Given the description of an element on the screen output the (x, y) to click on. 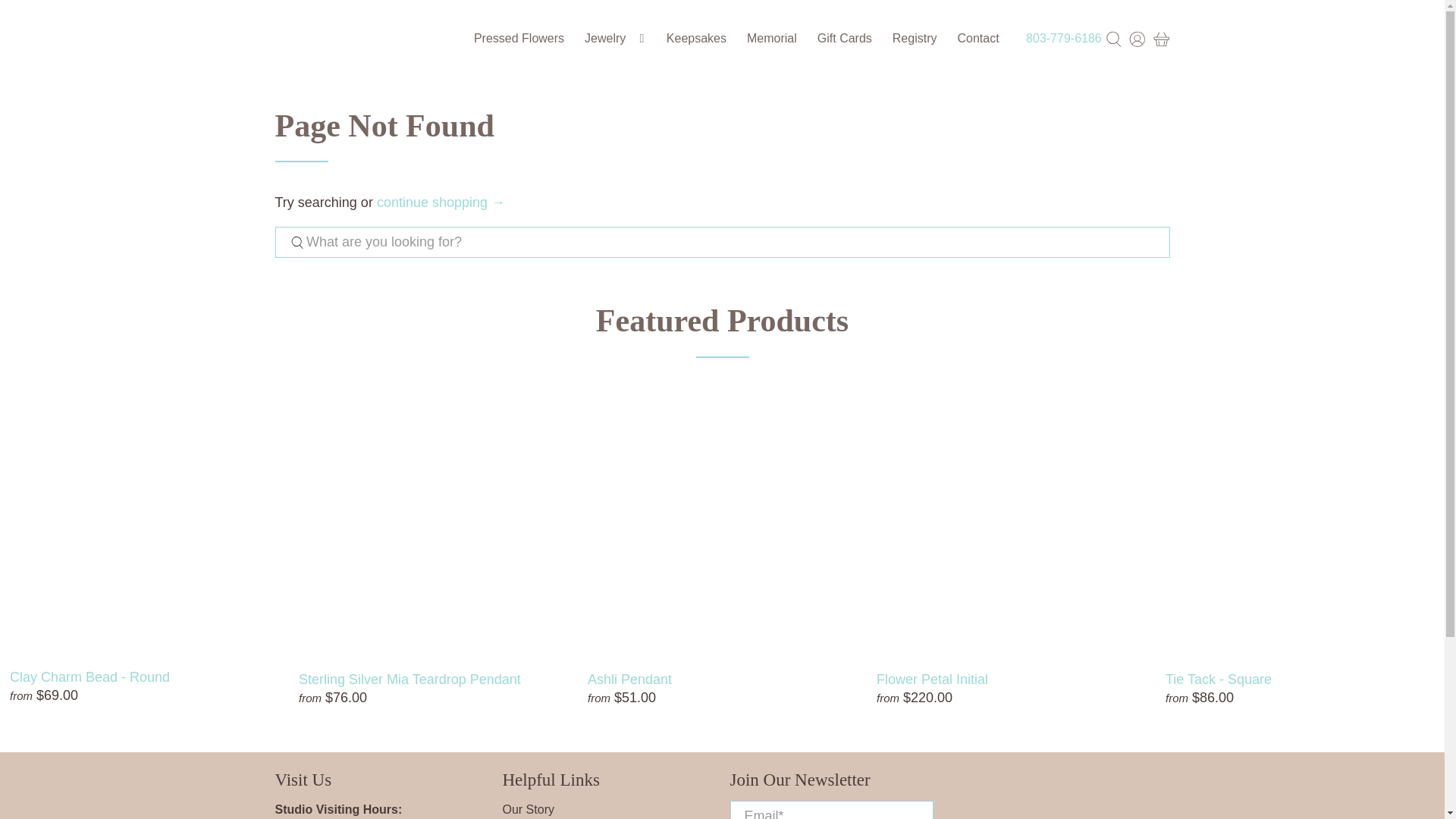
Registry (914, 38)
Memorial (772, 38)
Pressed Flowers (518, 38)
Gift Cards (844, 38)
Contact (978, 38)
Keepsakes (696, 38)
Jewelry (615, 38)
803-779-6186 (1064, 38)
Featured Products (721, 320)
Clay Charm Bead - Round (144, 676)
